Given the description of an element on the screen output the (x, y) to click on. 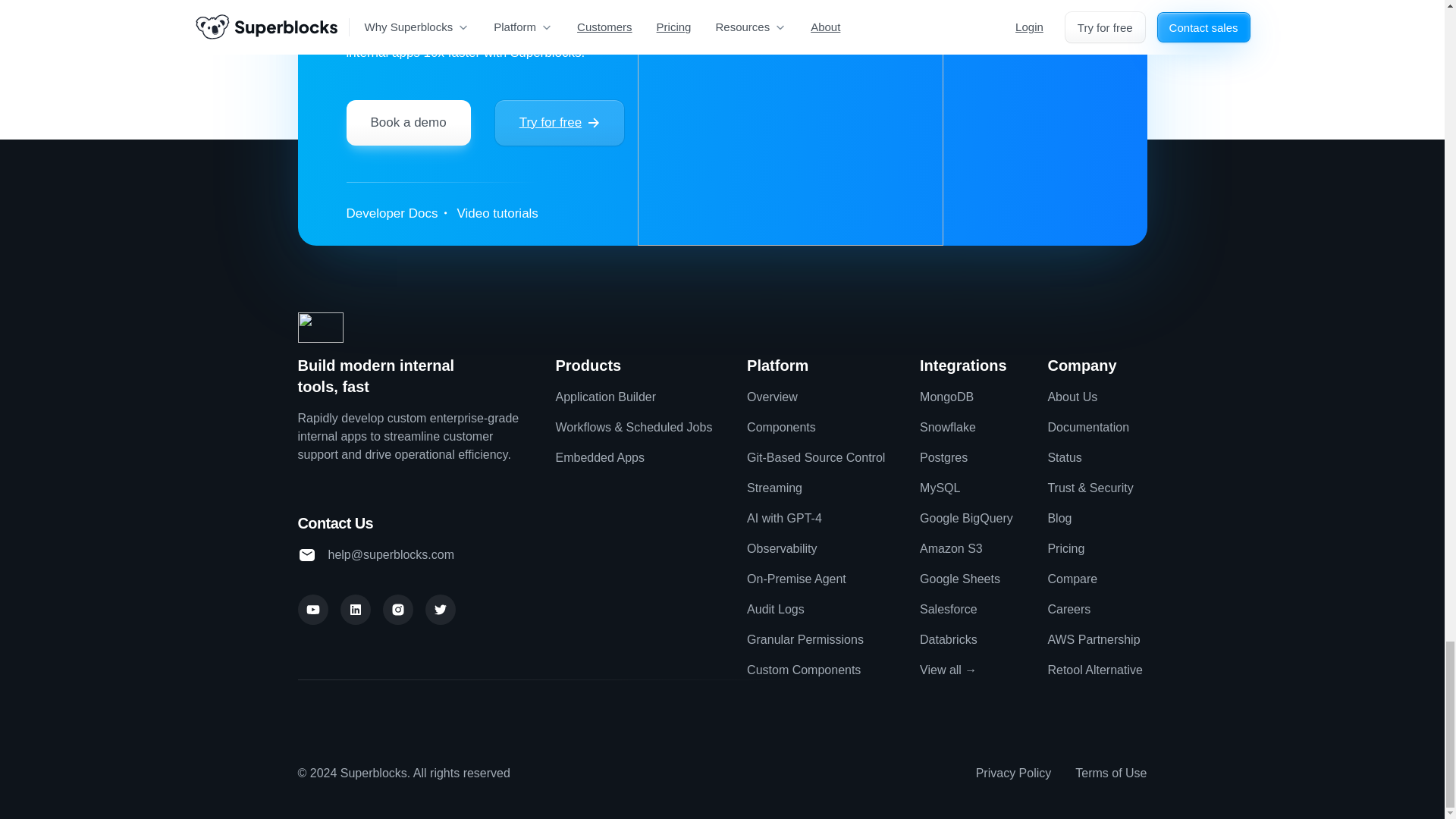
Book a demo (408, 122)
Try for free (559, 122)
Video tutorials (497, 213)
Developer Docs (392, 213)
